Given the description of an element on the screen output the (x, y) to click on. 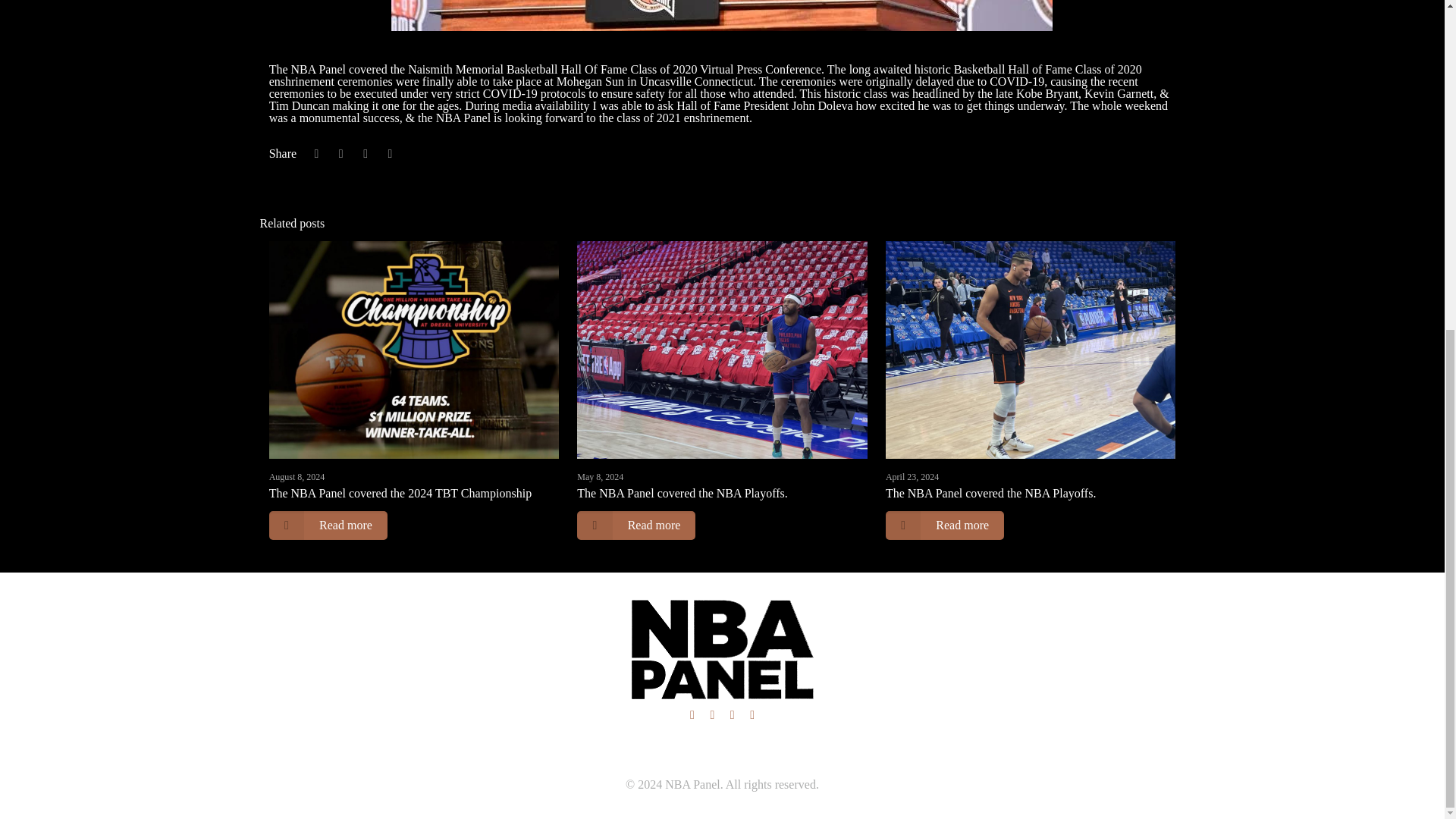
footer-logo (721, 652)
Read more (635, 525)
Read more (328, 525)
The NBA Panel covered the NBA Playoffs.  (992, 492)
The NBA Panel covered the 2024 TBT Championship (400, 492)
The NBA Panel covered the NBA Playoffs. (681, 492)
Read more (944, 525)
